Given the description of an element on the screen output the (x, y) to click on. 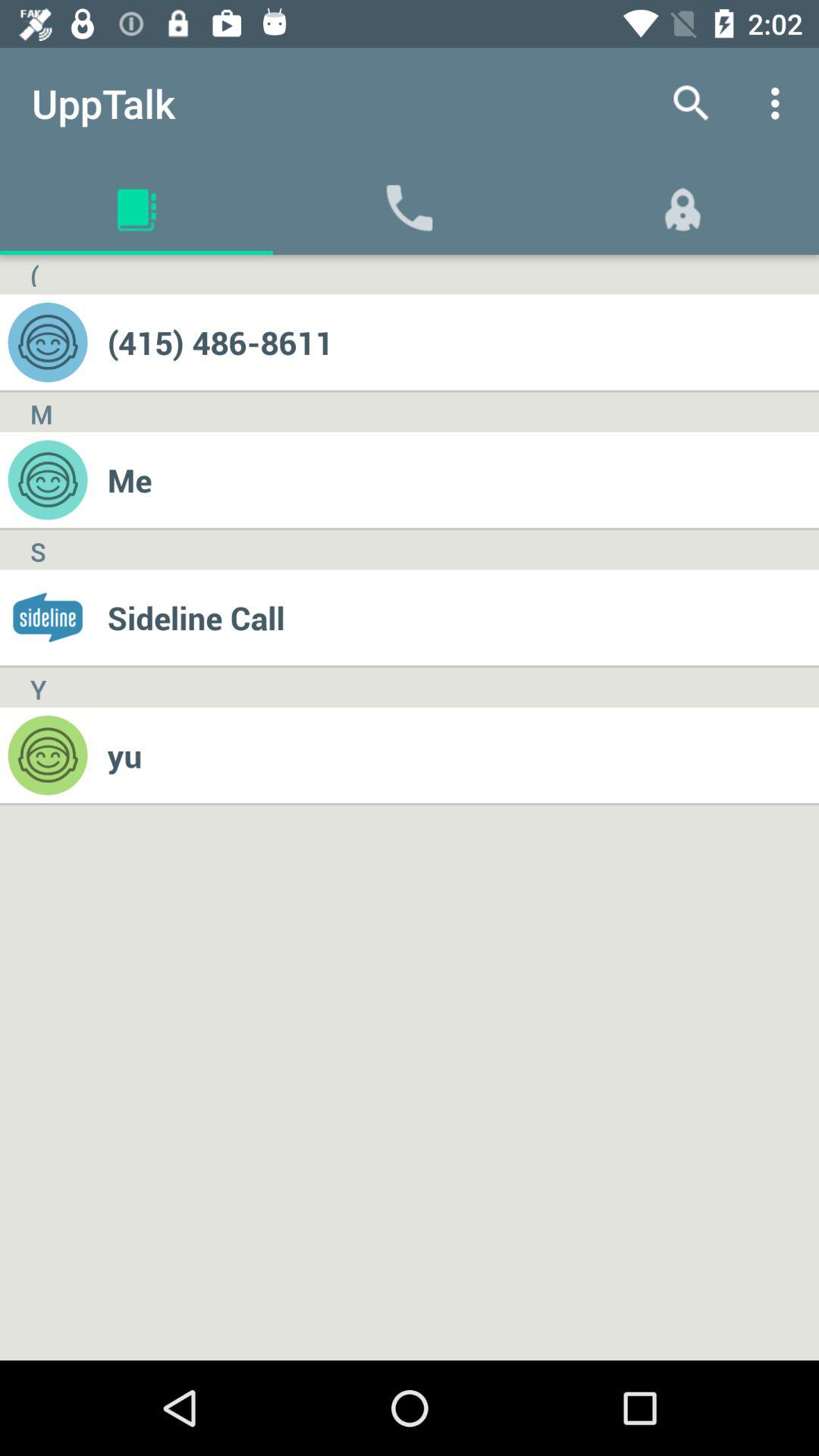
turn on the app next to the upptalk (691, 103)
